Given the description of an element on the screen output the (x, y) to click on. 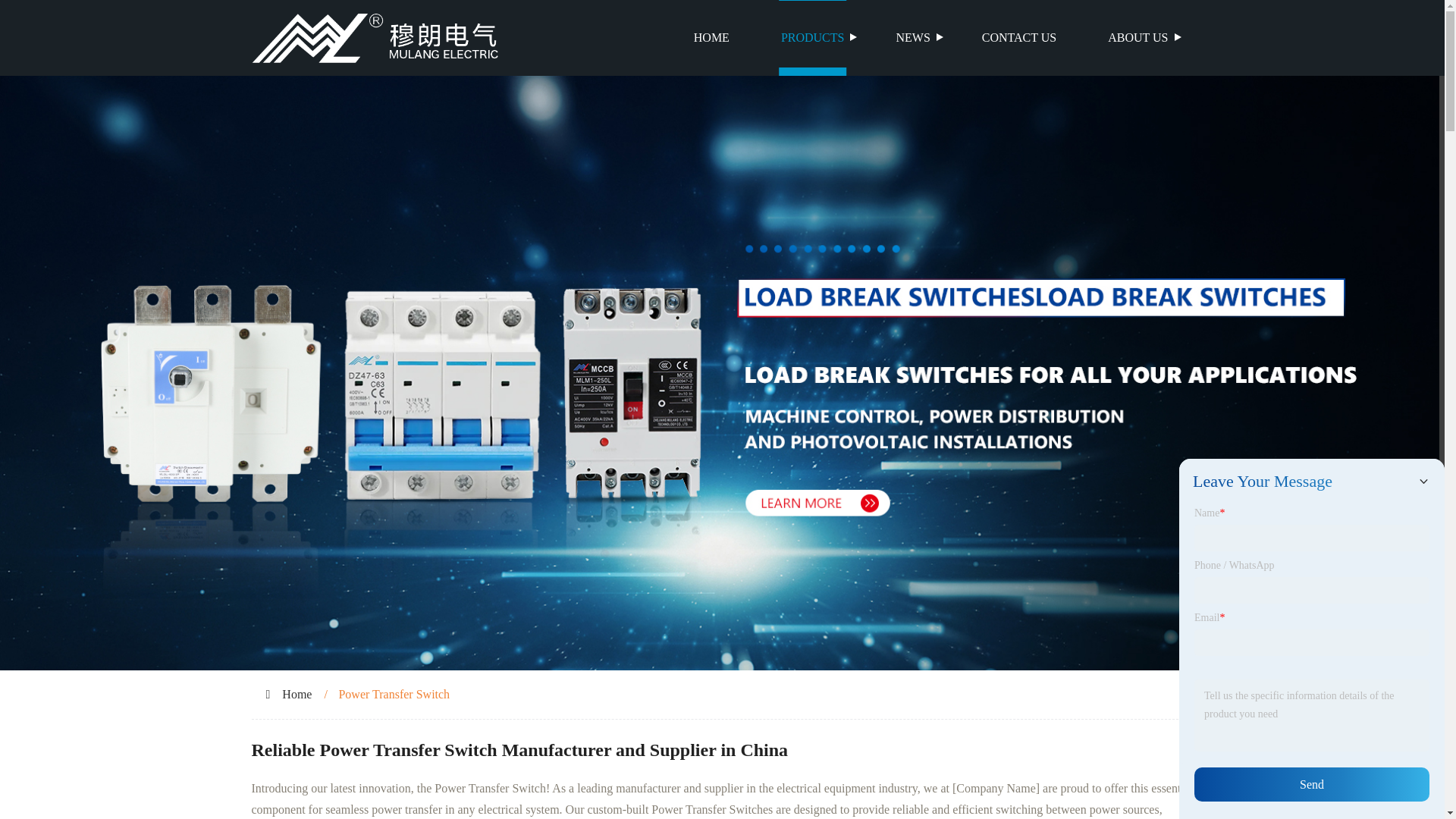
CONTACT US (1018, 38)
Home (296, 694)
PRODUCTS (812, 38)
